Given the description of an element on the screen output the (x, y) to click on. 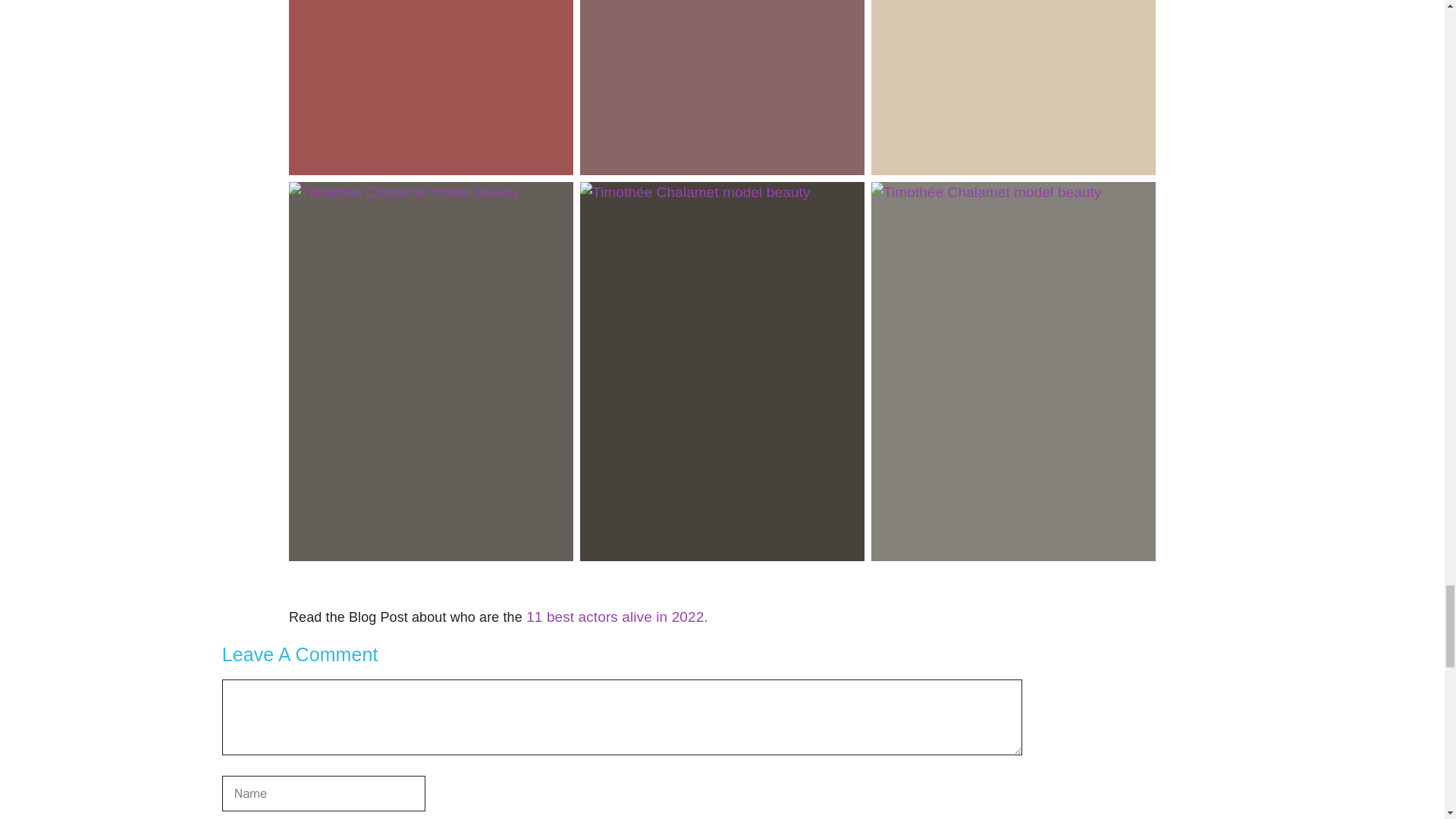
11 best actors alive in 2022. (614, 616)
